Given the description of an element on the screen output the (x, y) to click on. 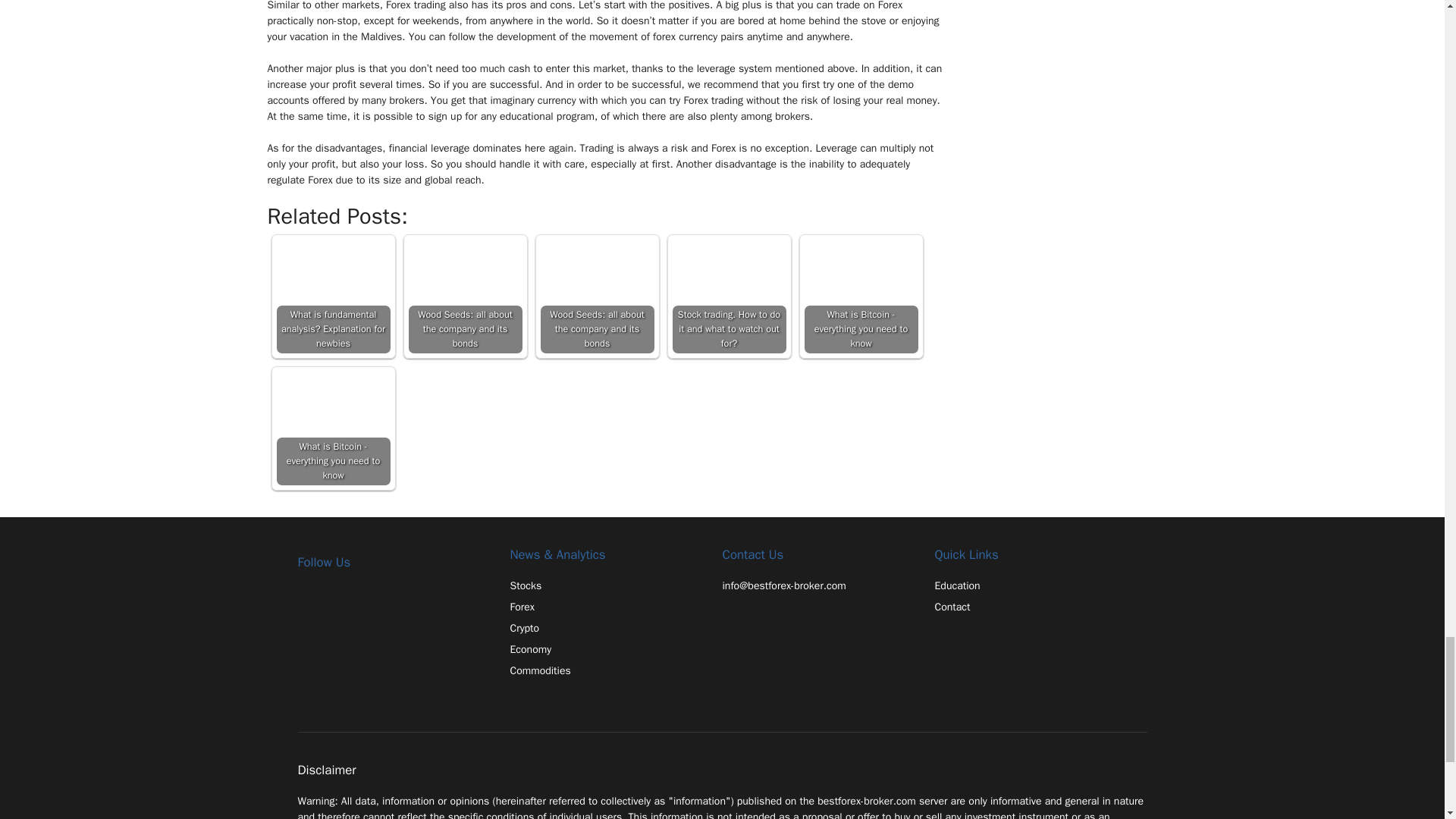
Wood Seeds: all about the company and its bonds (464, 295)
Wood Seeds: all about the company and its bonds (596, 295)
What is Bitcoin - everything you need to know (333, 428)
Wood Seeds: all about the company and its bonds (464, 295)
What is fundamental analysis? Explanation for newbies (333, 295)
What is fundamental analysis? Explanation for newbies (333, 295)
Stock trading. How to do it and what to watch out for? (728, 295)
What is Bitcoin - everything you need to know (860, 295)
